Given the description of an element on the screen output the (x, y) to click on. 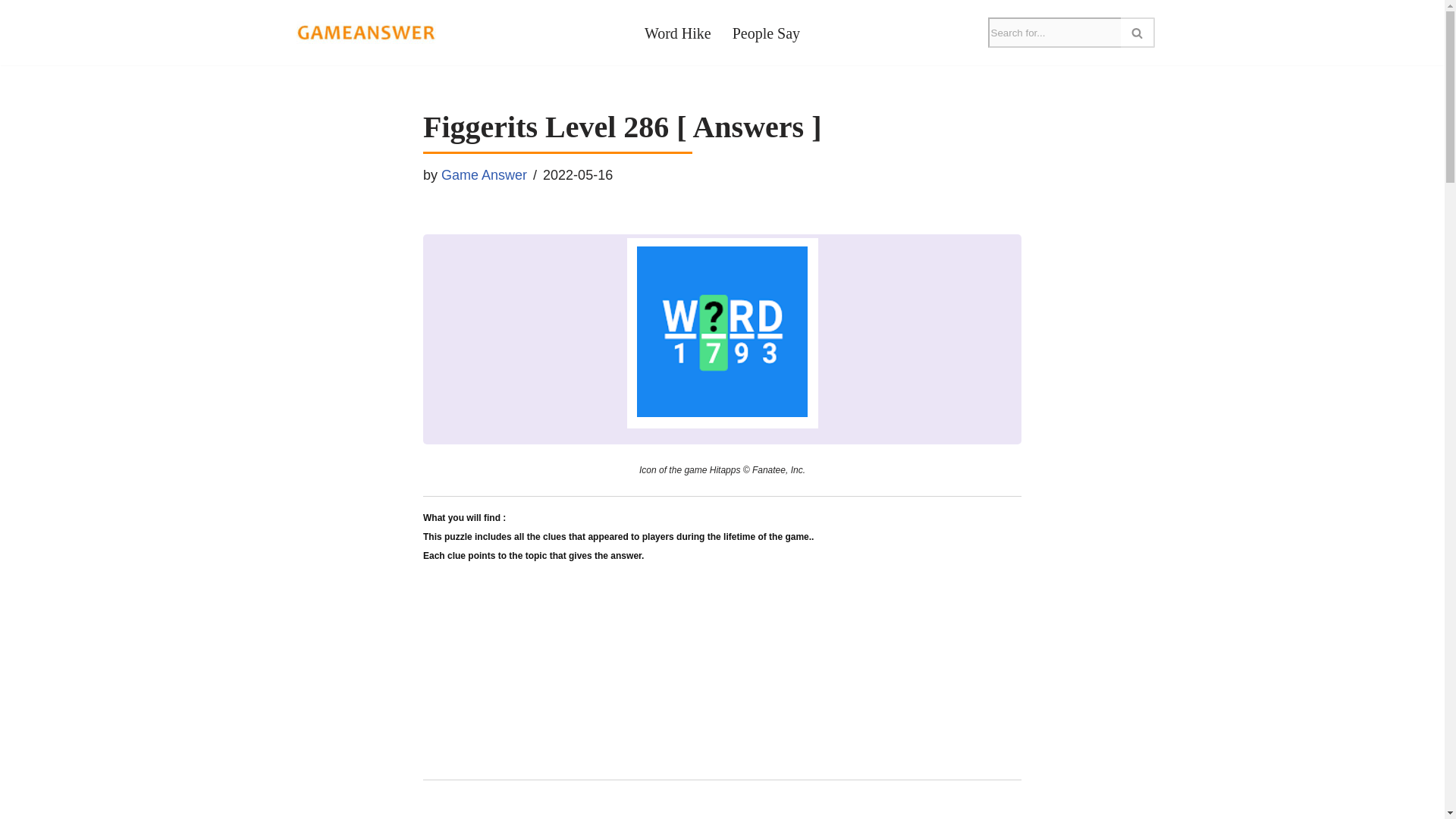
Word Hike (678, 32)
Posts by Game Answer (484, 174)
People Say (765, 32)
Skip to content (11, 31)
Word Hike (678, 32)
Game Answer (484, 174)
